Given the description of an element on the screen output the (x, y) to click on. 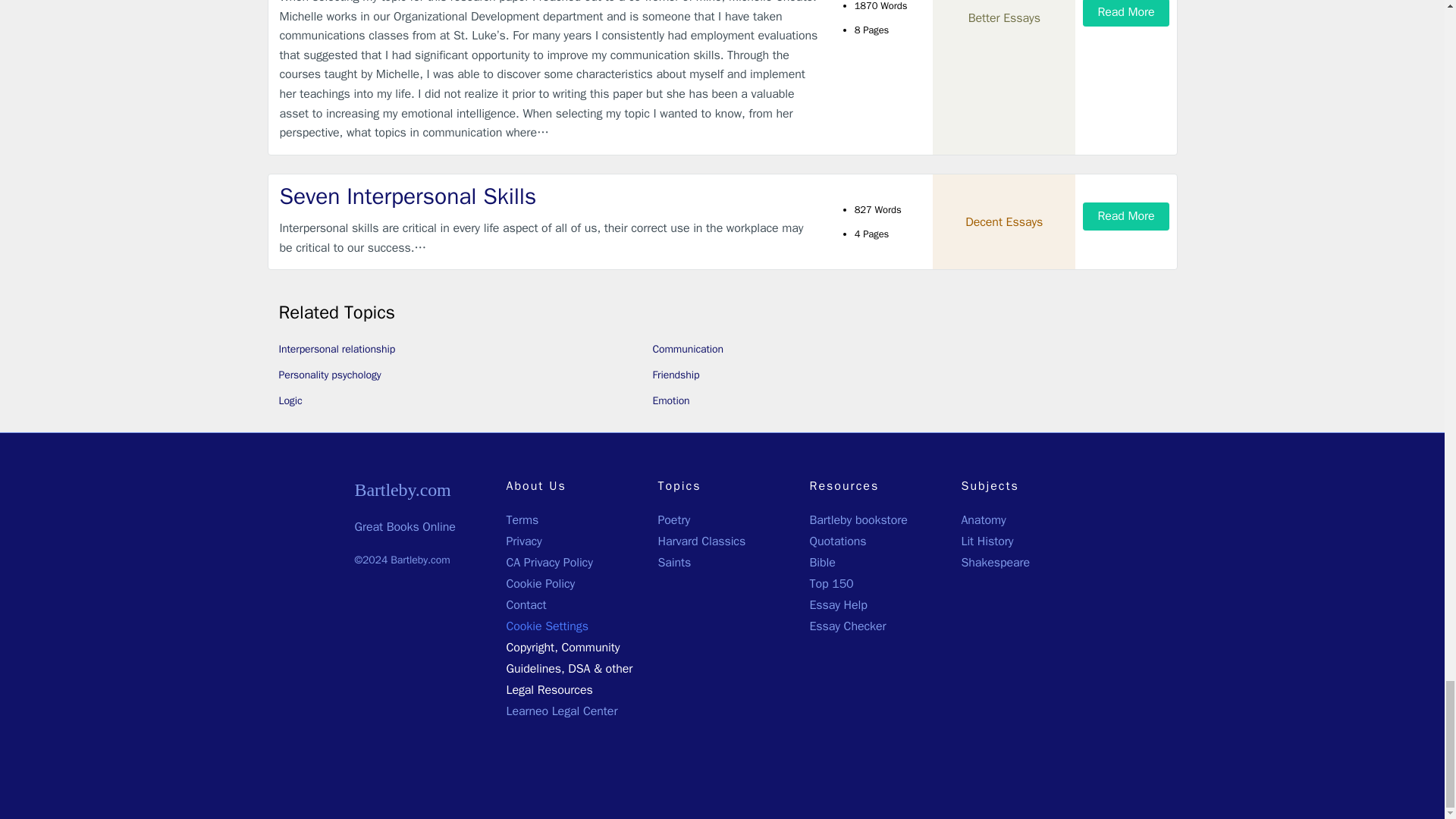
Personality psychology (330, 374)
Communication (687, 349)
Friendship (675, 374)
Interpersonal relationship (337, 349)
Logic (290, 400)
Emotion (670, 400)
